Given the description of an element on the screen output the (x, y) to click on. 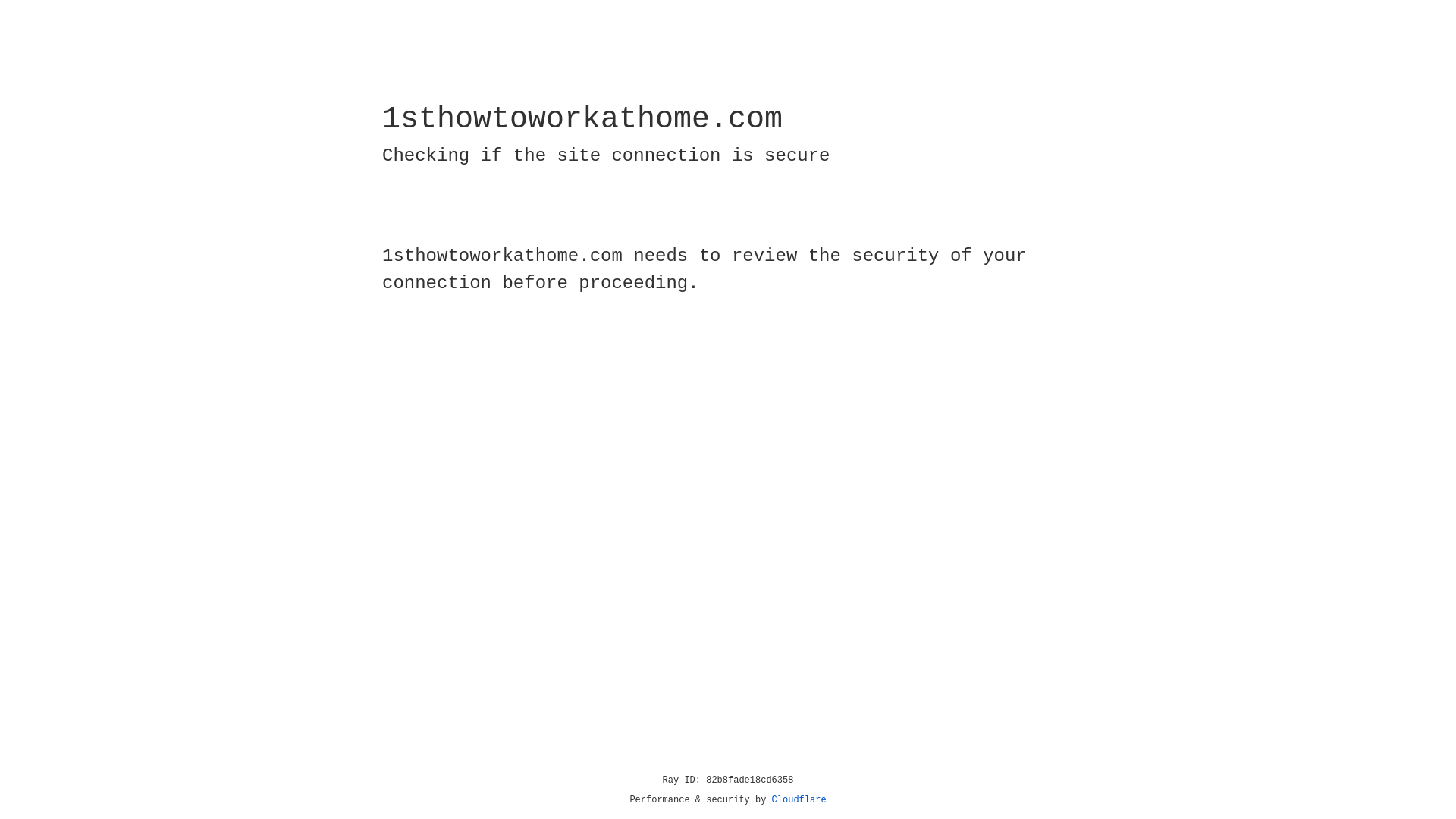
Cloudflare Element type: text (798, 799)
